Given the description of an element on the screen output the (x, y) to click on. 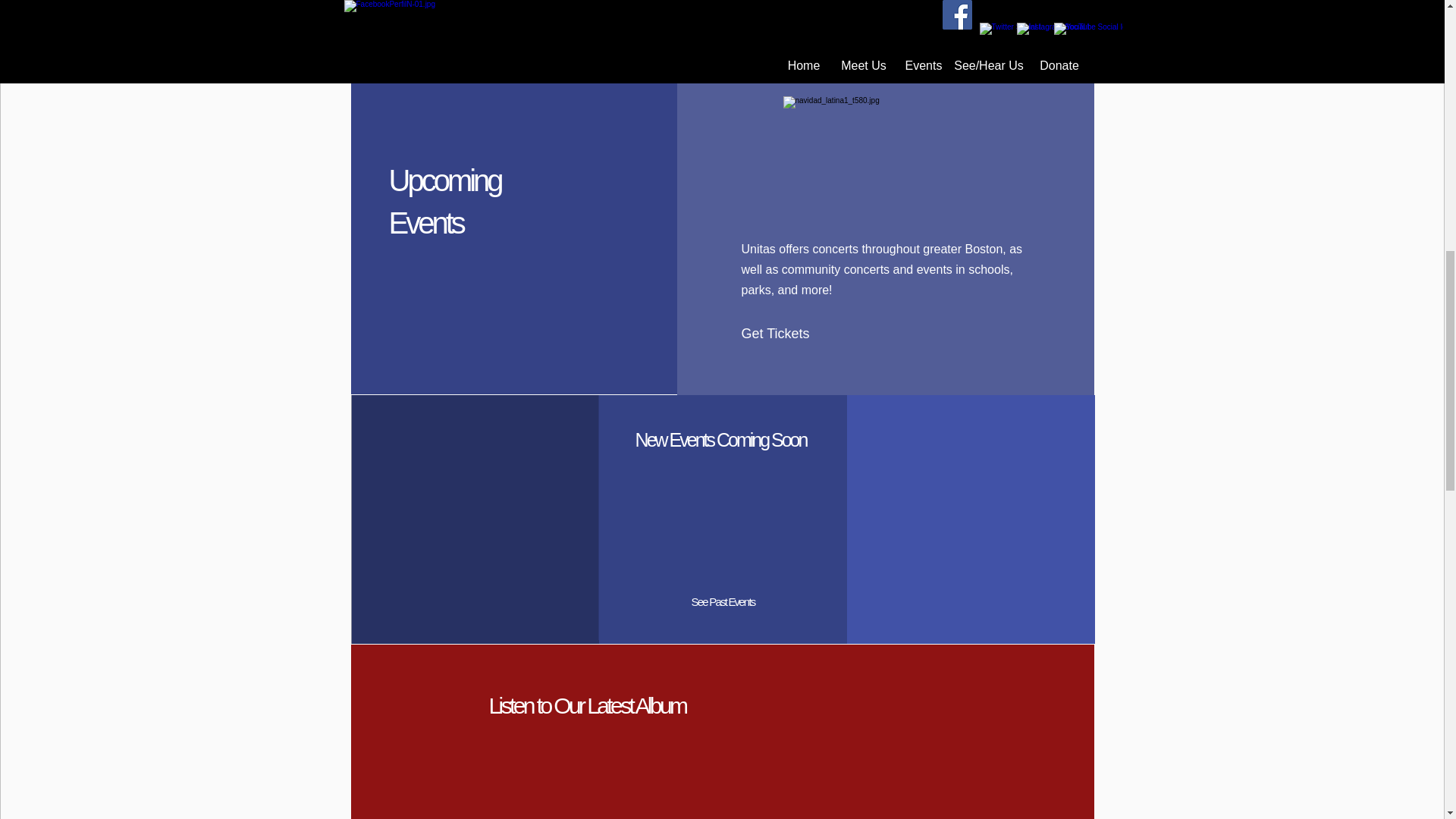
Get Tickets (785, 333)
